Given the description of an element on the screen output the (x, y) to click on. 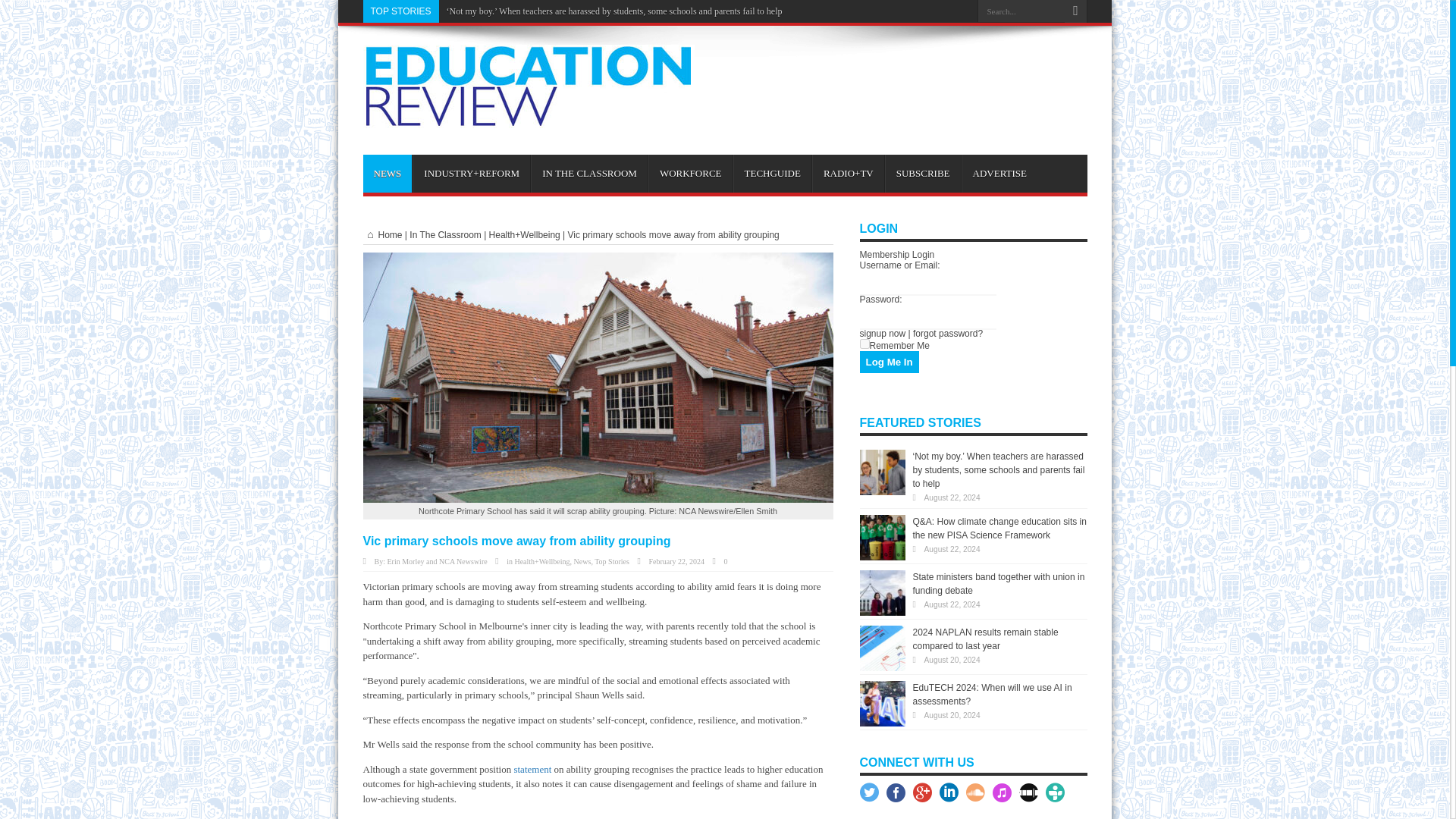
News (582, 561)
Education Review (528, 117)
Home (381, 235)
Search... (1020, 11)
Username (927, 282)
Password (927, 316)
NEWS (387, 173)
Top Stories (611, 561)
